Given the description of an element on the screen output the (x, y) to click on. 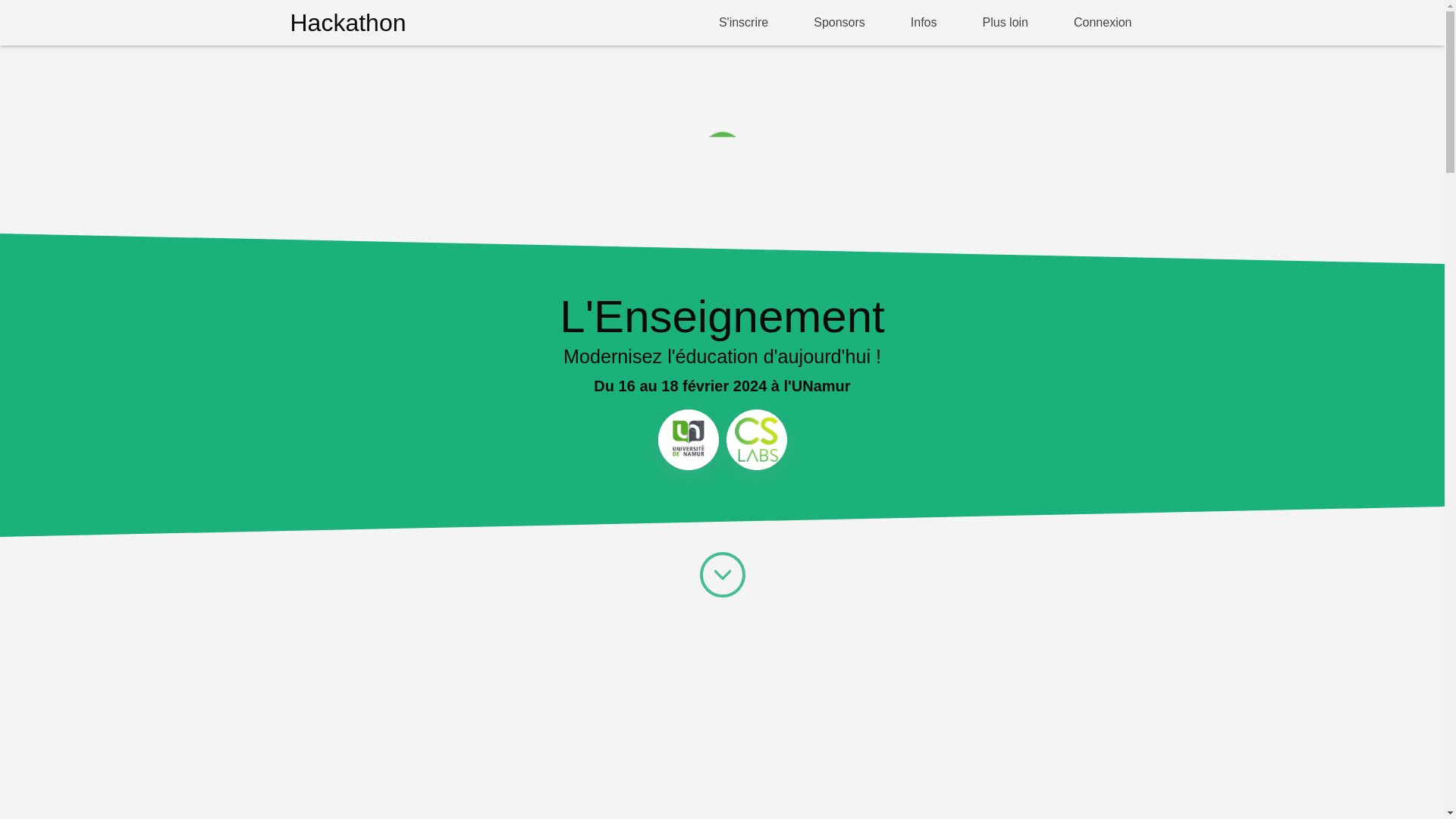
Connexion Element type: text (1102, 22)
Plus loin Element type: text (1005, 22)
Sponsors Element type: text (839, 22)
CSLabs Element type: hover (756, 439)
Hackathon Element type: text (347, 22)
Infos Element type: text (924, 22)
S'inscrire Element type: text (743, 22)
